Given the description of an element on the screen output the (x, y) to click on. 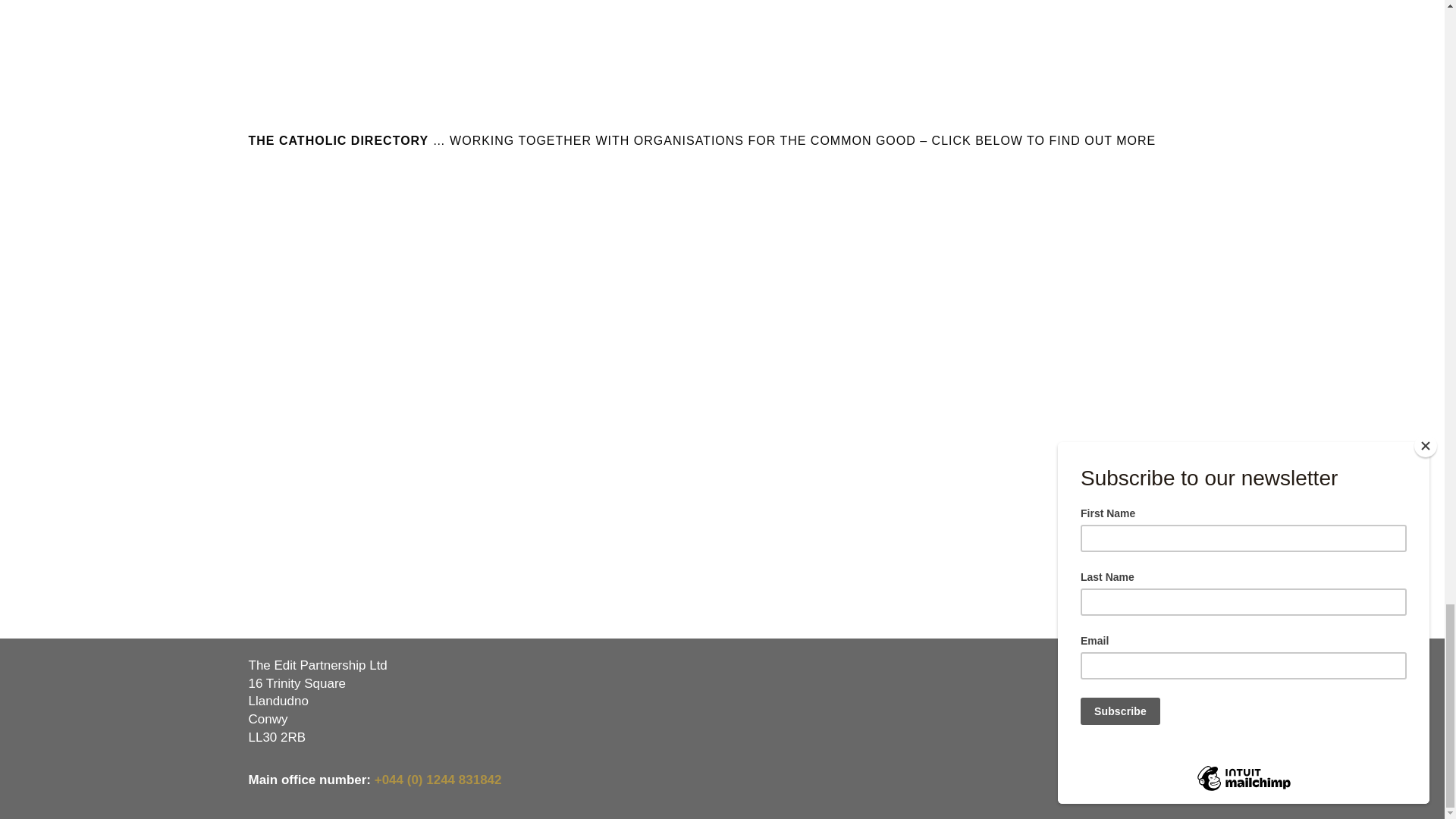
CBCEW (803, 211)
CAFOD LOGO mono (477, 309)
CATHEDRAL CANDLE mono (315, 309)
ladywwell logo mono (315, 214)
depaul logo (966, 215)
Christian-Art-Logo mono (640, 213)
PACT-LOGO 150mono (1128, 214)
